Given the description of an element on the screen output the (x, y) to click on. 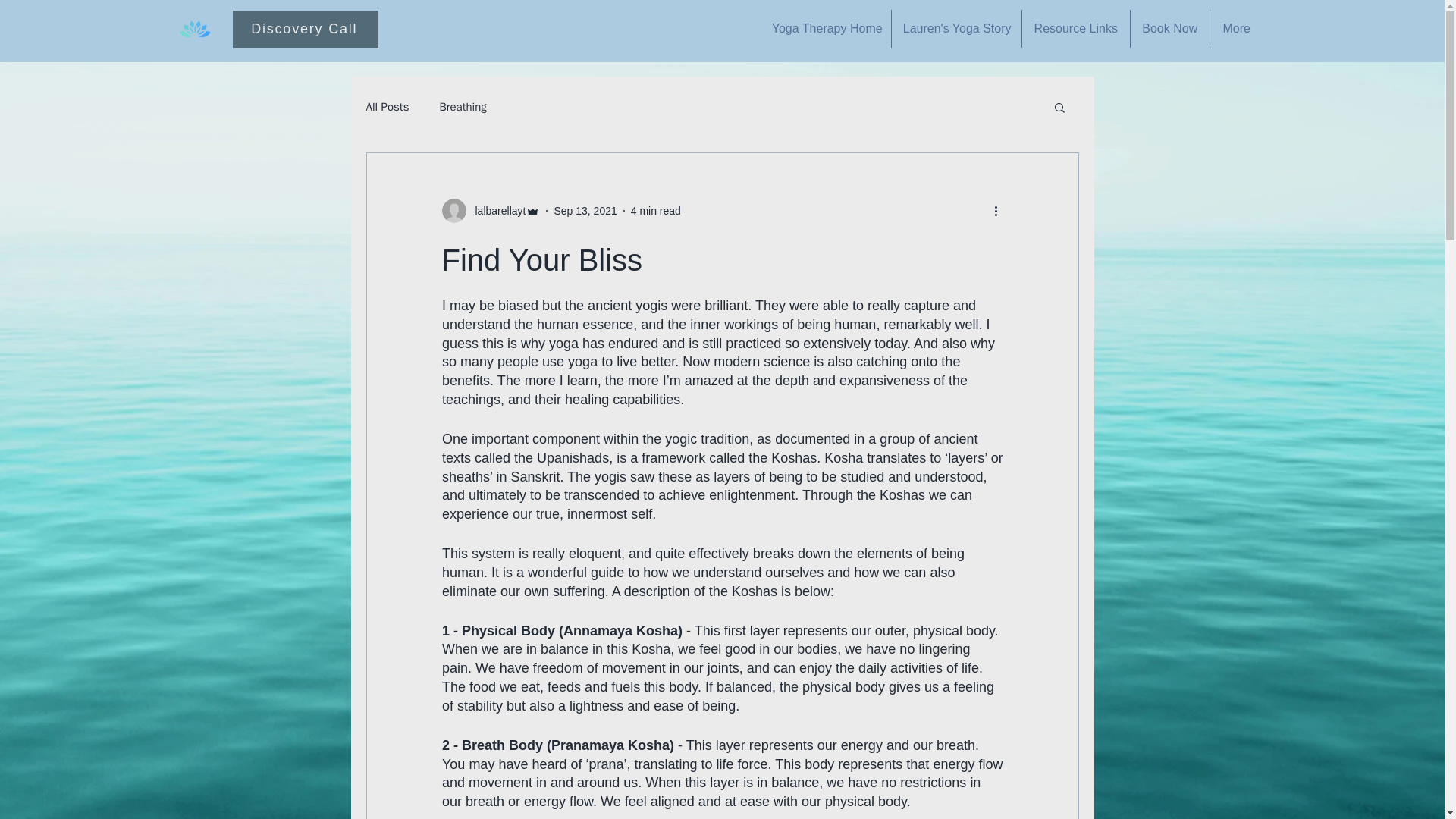
lalbarellayt (495, 211)
Yoga Therapy Home (825, 28)
Lauren's Yoga Story (956, 28)
Resource Links (1075, 28)
Book Now (1170, 28)
lalbarellayt (490, 210)
Breathing (462, 106)
Sep 13, 2021 (584, 210)
All Posts (387, 106)
Discovery Call (305, 28)
